Given the description of an element on the screen output the (x, y) to click on. 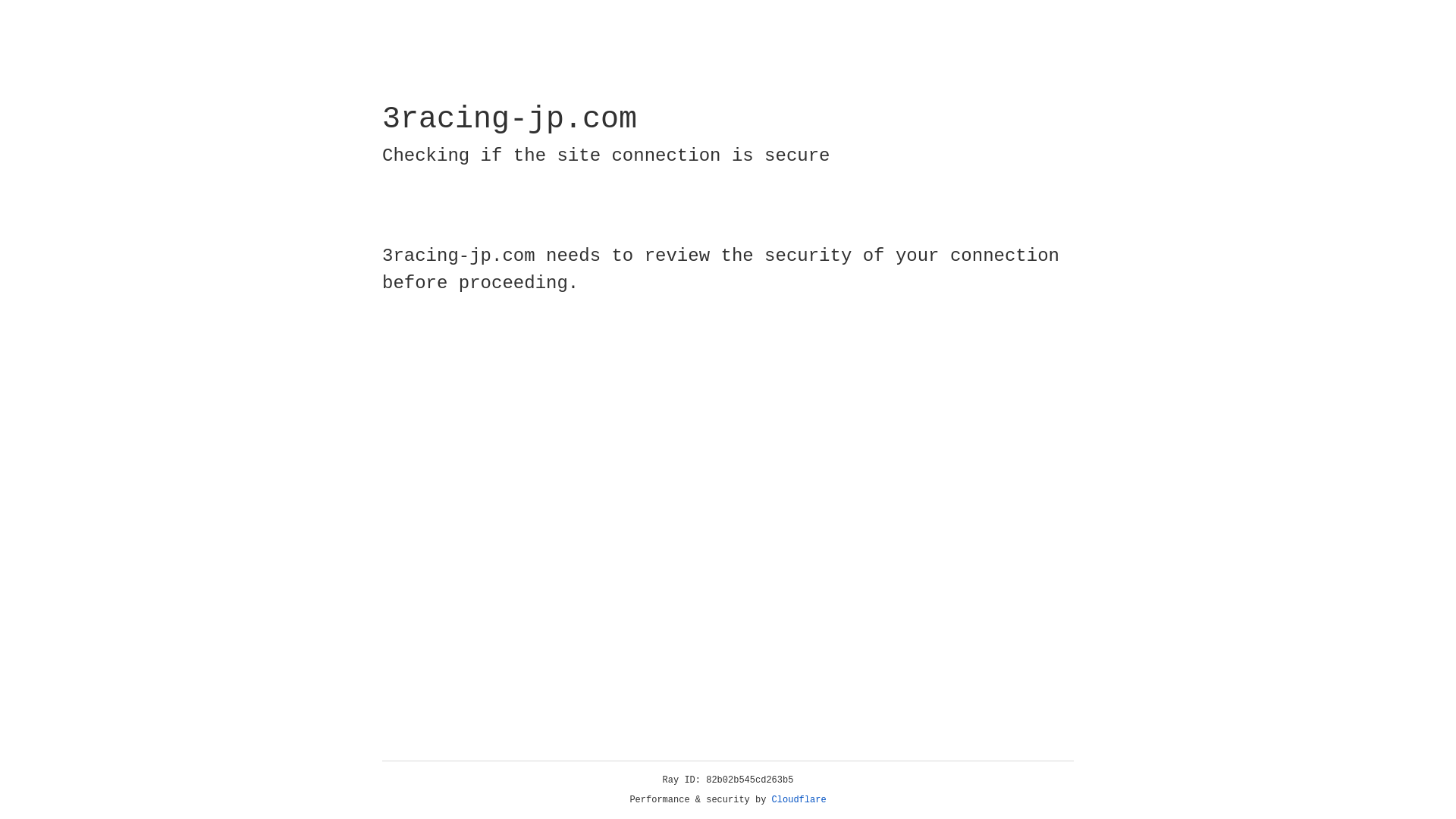
Cloudflare Element type: text (798, 799)
